Given the description of an element on the screen output the (x, y) to click on. 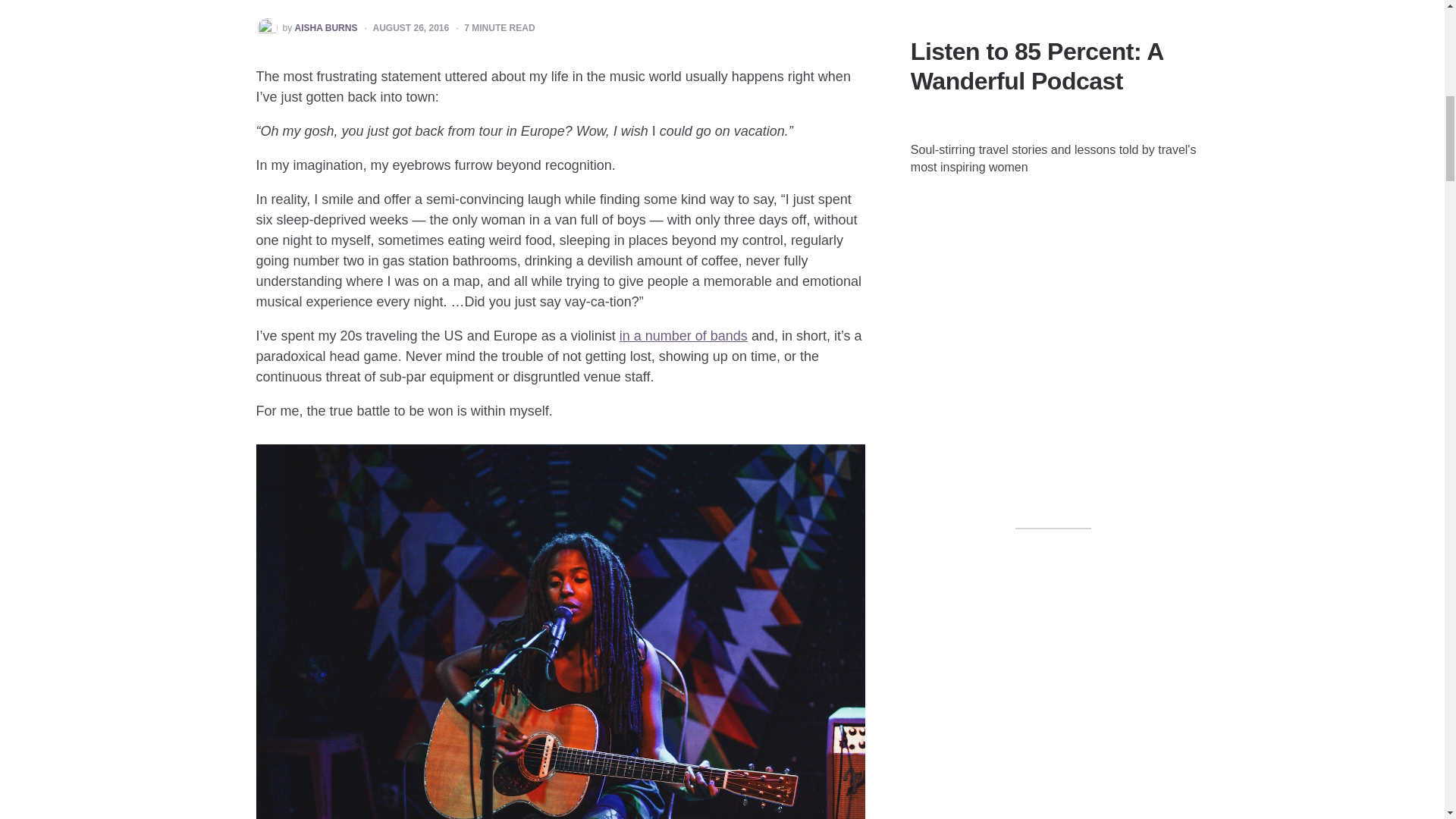
AISHA BURNS (326, 28)
in a number of bands (684, 335)
